Given the description of an element on the screen output the (x, y) to click on. 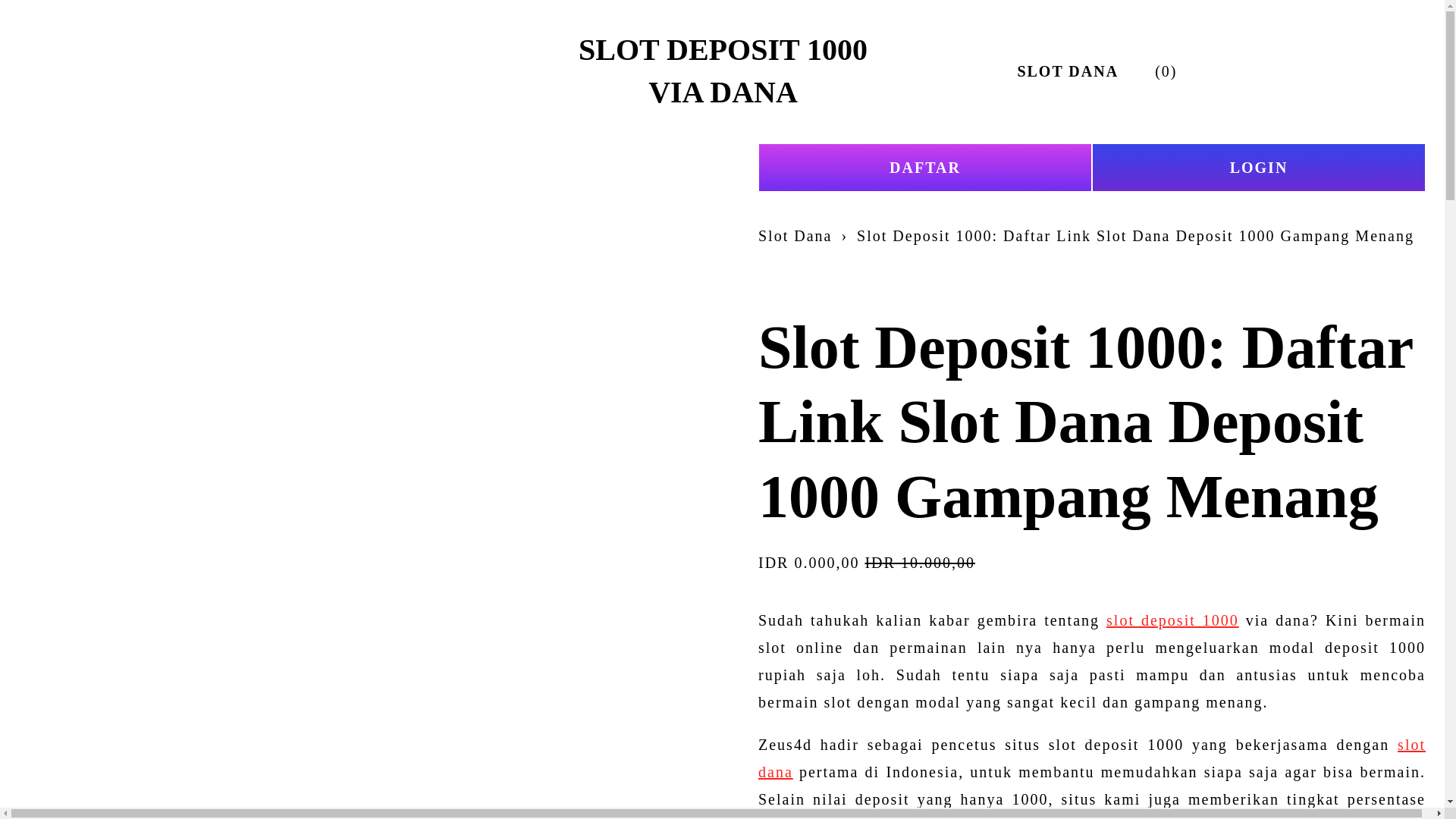
SLOT DEPOSIT 1000 VIA DANA (722, 70)
slot deposit 1000 (1172, 619)
Slot Dana (794, 235)
LOGIN (1258, 167)
SLOT DANA (1067, 70)
DAFTAR (925, 167)
slot dana (1091, 758)
